Given the description of an element on the screen output the (x, y) to click on. 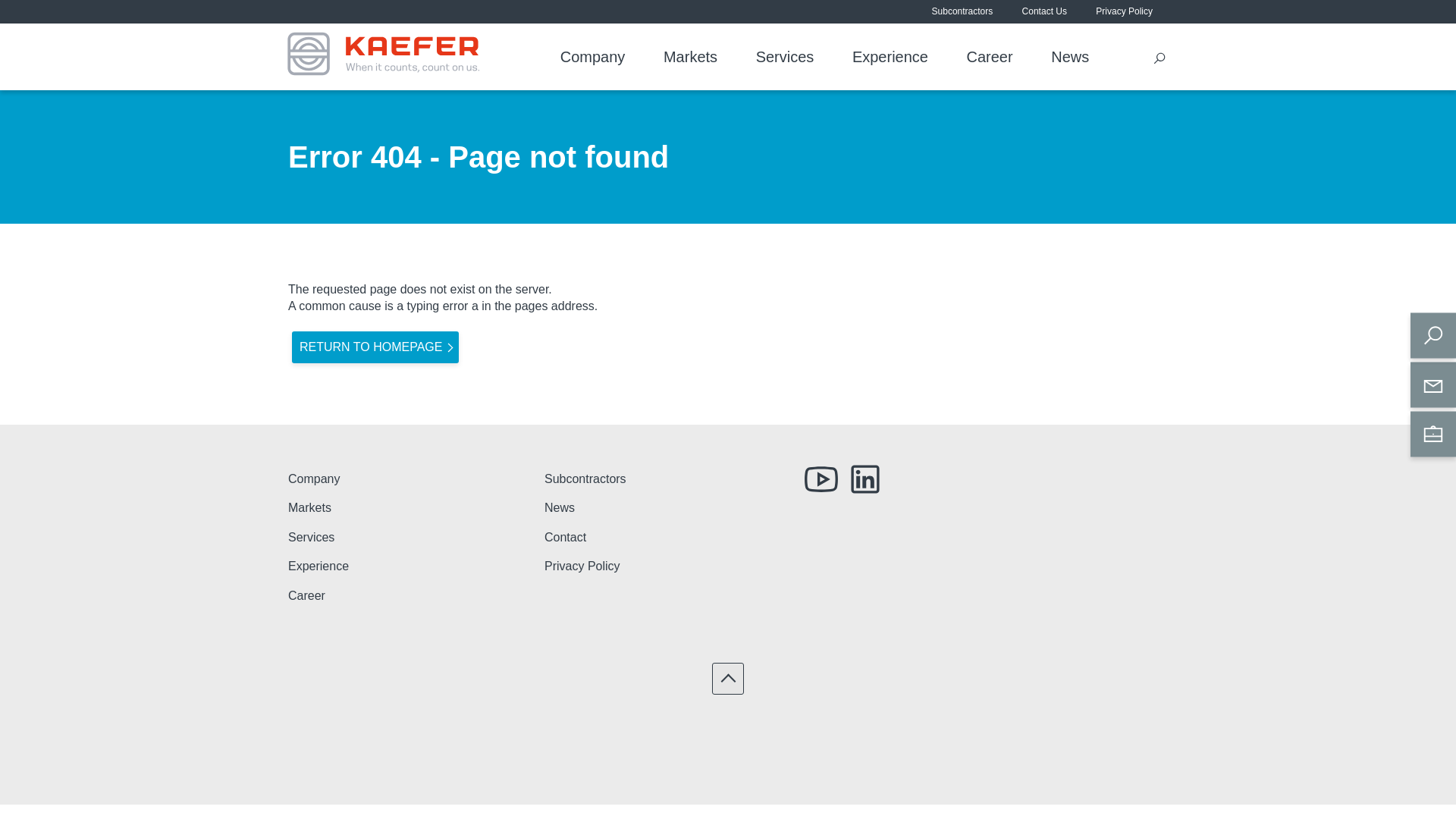
Subcontractors Element type: text (585, 479)
Markets Element type: text (309, 508)
Services Element type: text (311, 537)
Career Element type: text (306, 596)
Services Element type: text (785, 57)
Privacy Policy Element type: text (1123, 11)
Experience Element type: text (318, 566)
News Element type: text (559, 508)
Career Element type: text (989, 57)
Company Element type: text (592, 57)
Markets Element type: text (690, 57)
News Element type: text (1069, 57)
Subcontractors Element type: text (962, 11)
RETURN TO HOMEPAGE Element type: text (374, 347)
Experience Element type: text (890, 57)
Company Element type: text (313, 479)
Contact Element type: text (565, 537)
Privacy Policy Element type: text (582, 566)
Contact Us Element type: text (1044, 11)
